Given the description of an element on the screen output the (x, y) to click on. 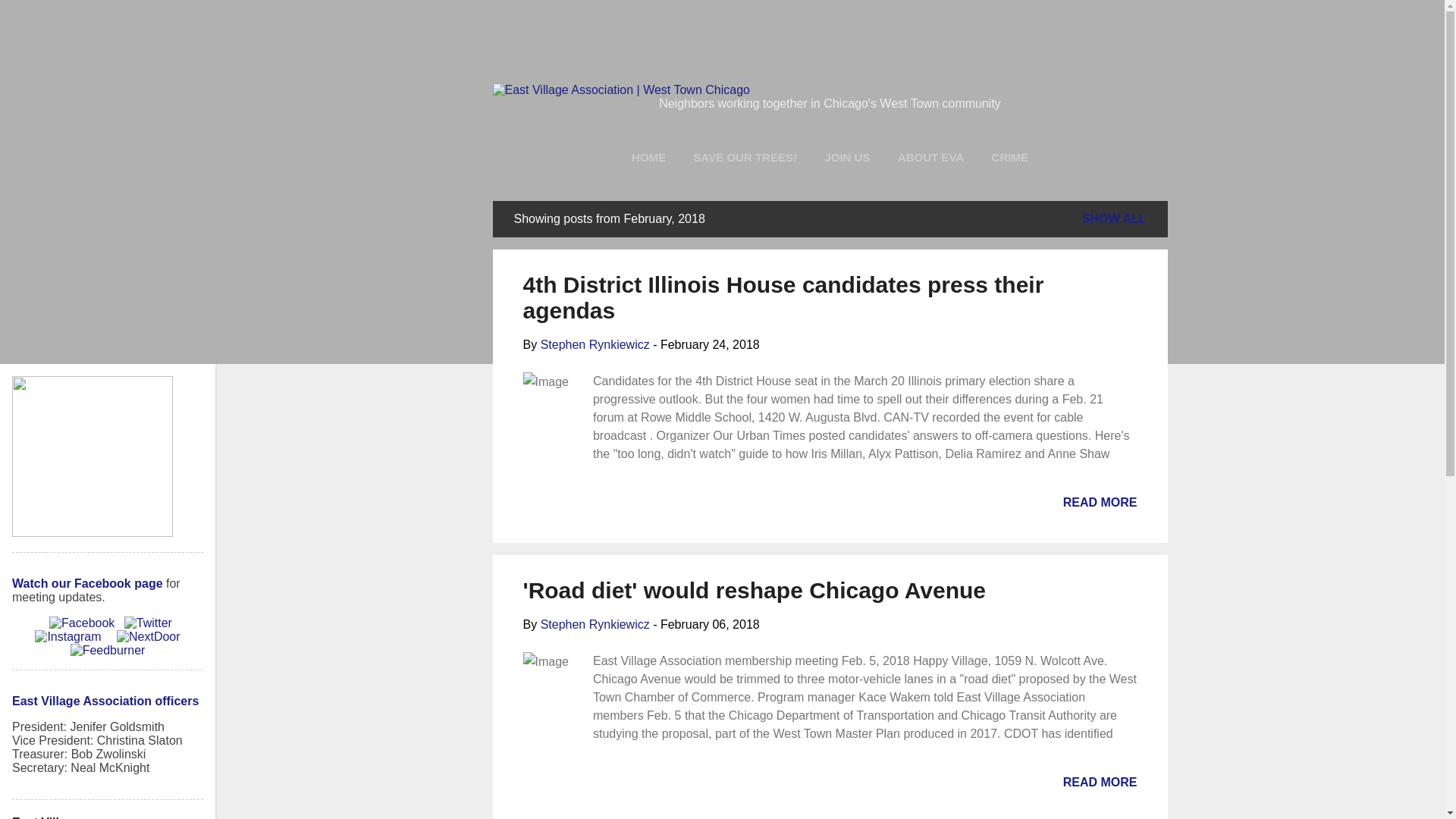
READ MORE (1099, 502)
Search (32, 18)
February 24, 2018 (710, 344)
Email Post (531, 507)
Stephen Rynkiewicz (594, 344)
SAVE OUR TREES! (745, 156)
READ MORE (1099, 781)
'Road diet' would reshape Chicago Avenue (753, 590)
Watch our Facebook page (87, 583)
author profile (594, 344)
